Given the description of an element on the screen output the (x, y) to click on. 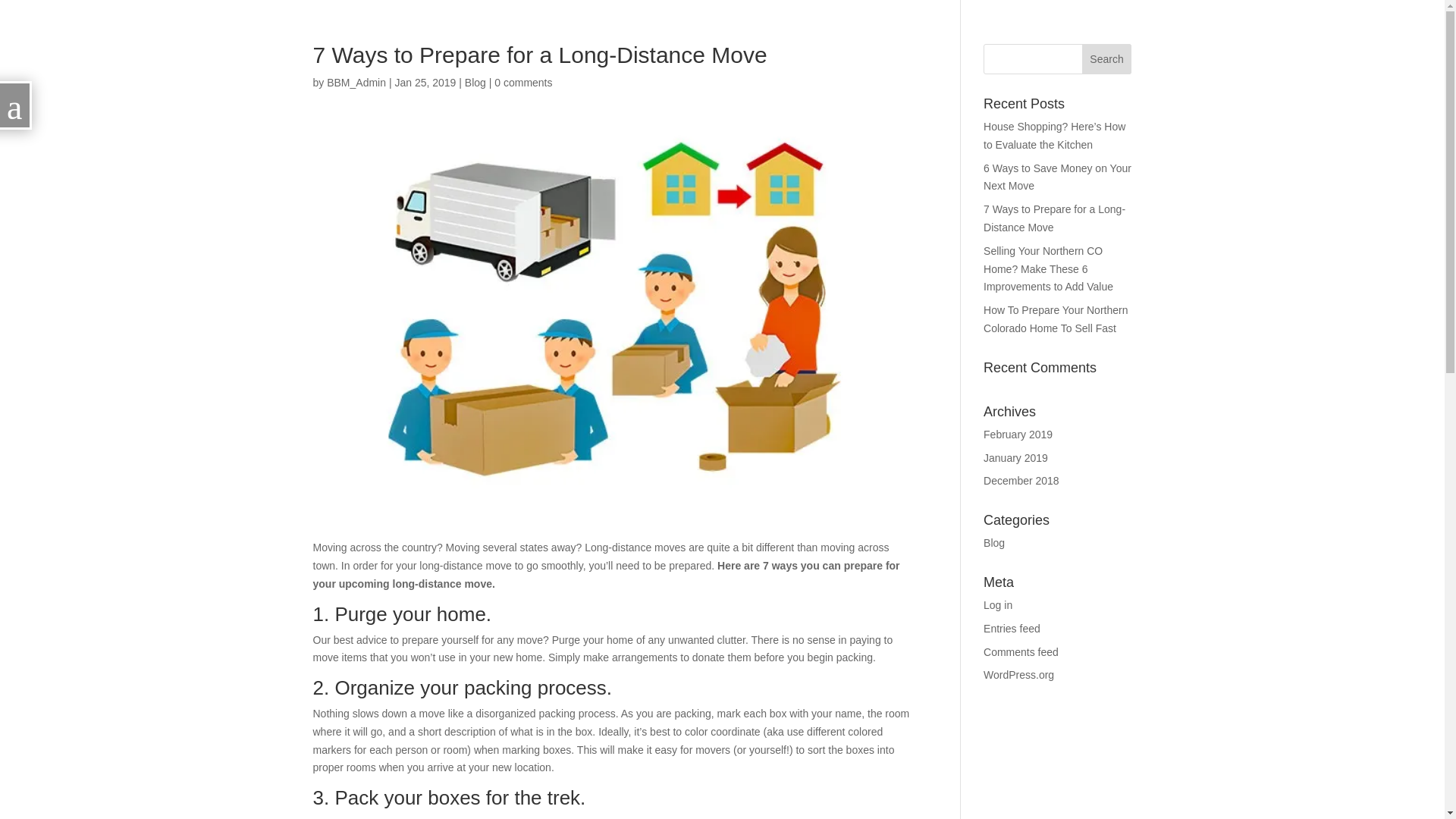
December 2018 (1021, 480)
February 2019 (1018, 434)
Entries feed (1012, 628)
Search (1106, 59)
6 Ways to Save Money on Your Next Move (1057, 177)
Search (1106, 59)
Comments feed (1021, 652)
How To Prepare Your Northern Colorado Home To Sell Fast (1055, 318)
7 Ways to Prepare for a Long-Distance Move (1054, 218)
WordPress.org (1019, 674)
Blog (994, 542)
Blog (475, 82)
0 comments (523, 82)
Log in (997, 604)
